Given the description of an element on the screen output the (x, y) to click on. 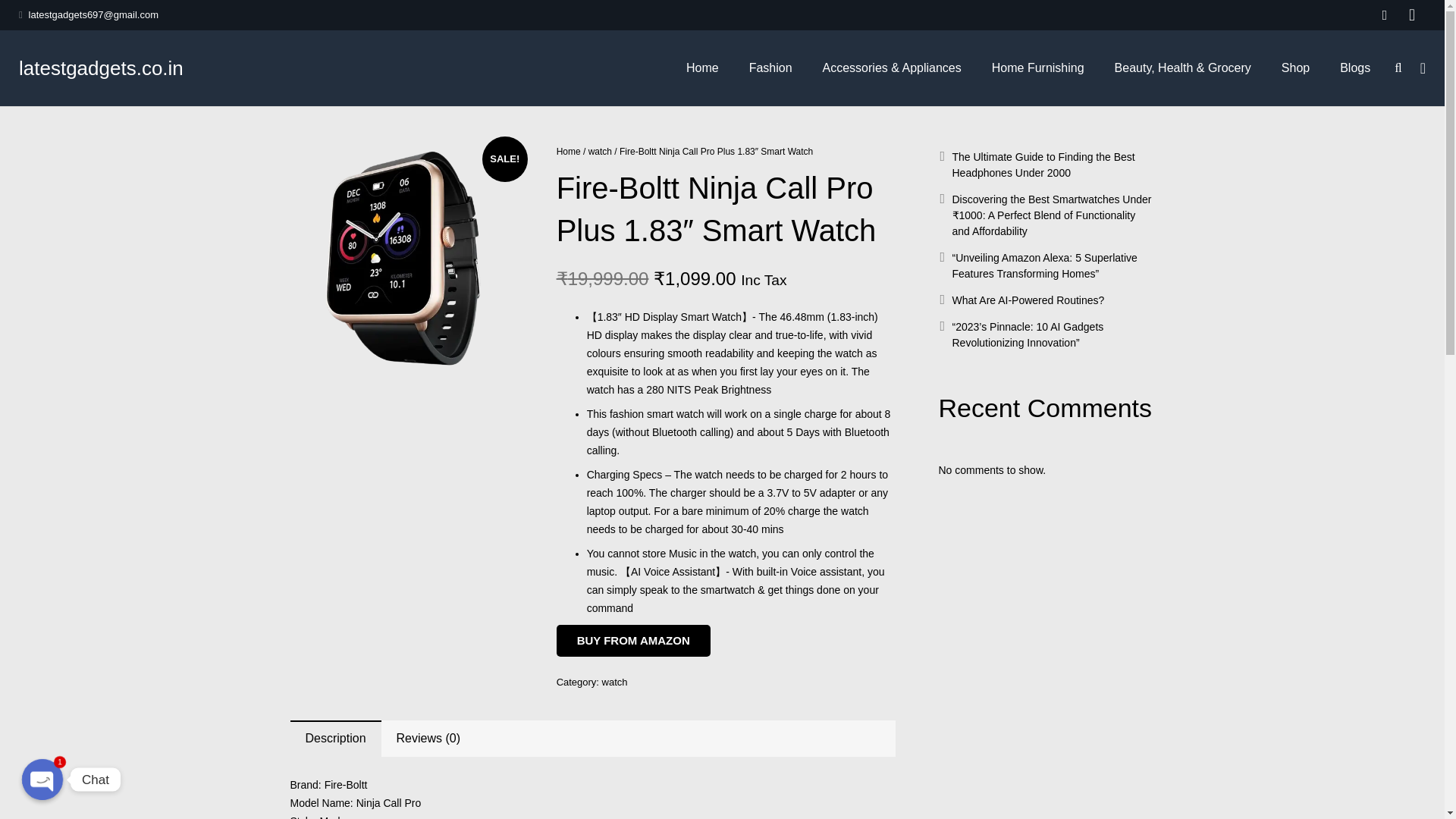
latestgadgets.co.in (100, 67)
watch (599, 151)
Home (568, 151)
Shop (1295, 67)
BUY FROM AMAZON (633, 640)
watch (614, 681)
Home Furnishing (1037, 67)
Blogs (1355, 67)
Fashion (770, 67)
Home (702, 67)
Description (334, 738)
